Given the description of an element on the screen output the (x, y) to click on. 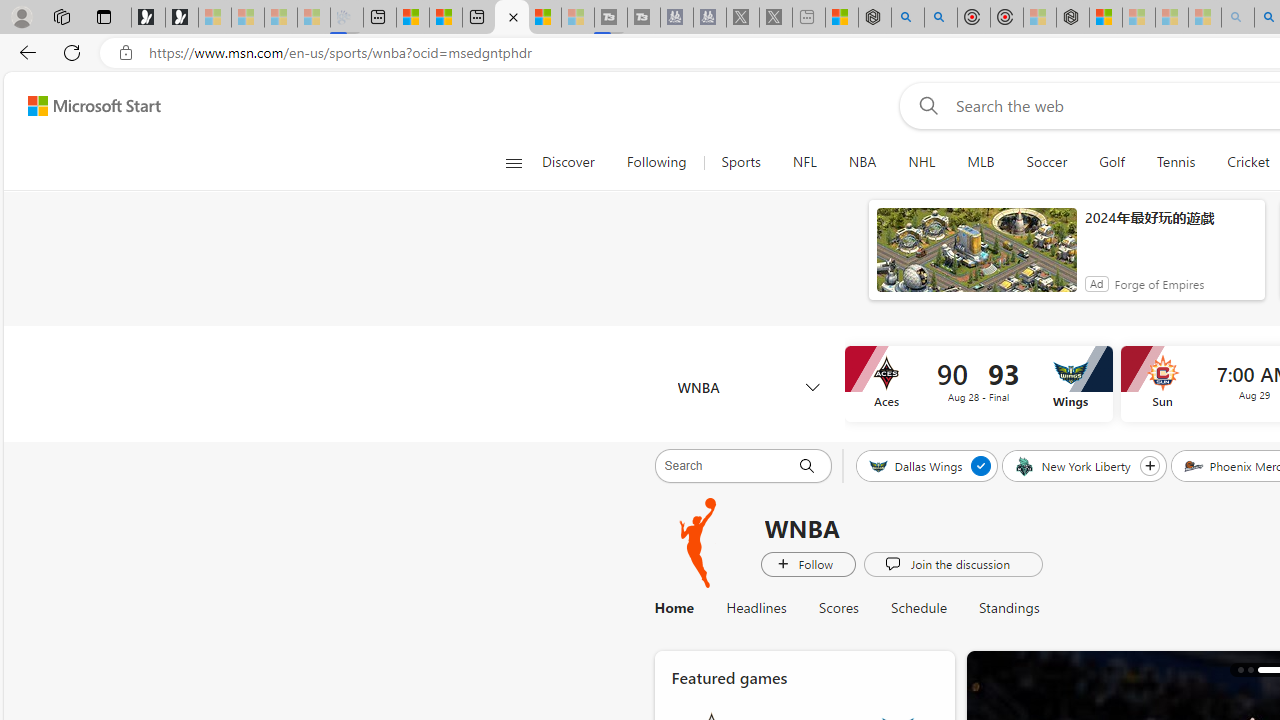
Unfollow Dallas Wings (981, 465)
amazon - Search - Sleeping (1238, 17)
NFL (804, 162)
Soccer (1046, 162)
Golf (1111, 162)
Home (682, 607)
poe - Search (908, 17)
NHL (921, 162)
